Given the description of an element on the screen output the (x, y) to click on. 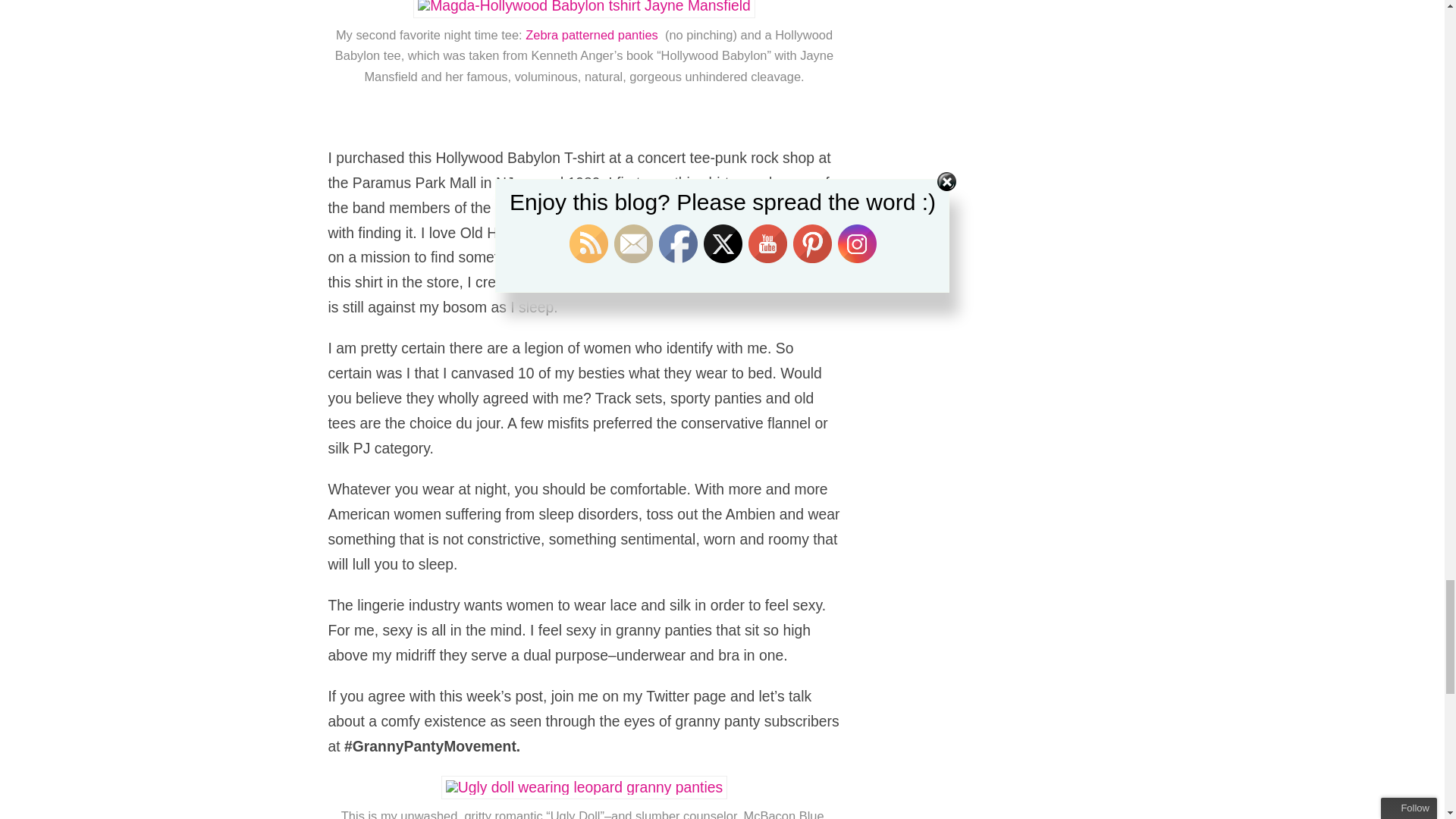
Zebra patterned panties  (595, 34)
zebra panties no pinching (595, 34)
